Given the description of an element on the screen output the (x, y) to click on. 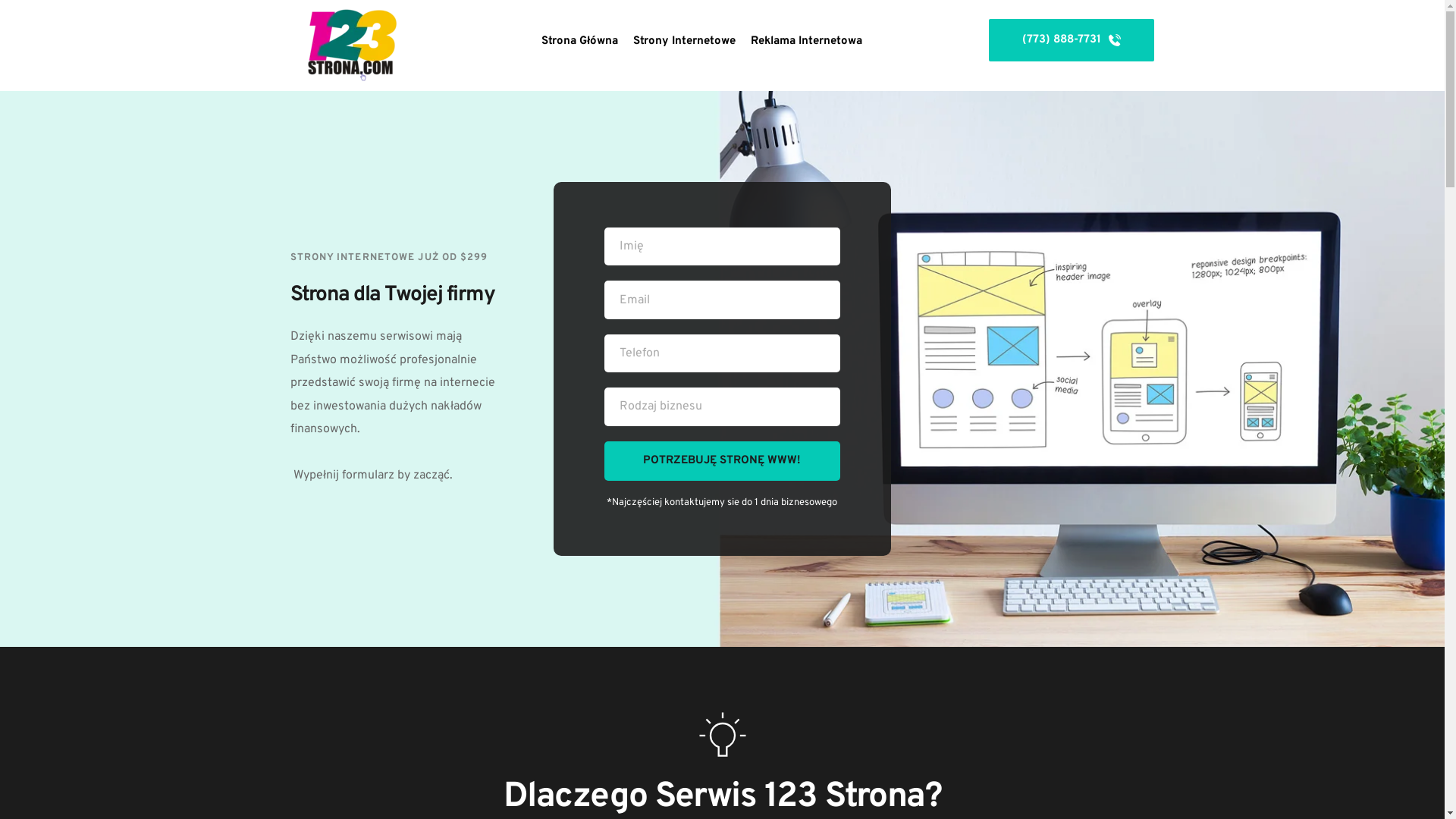
Strony Internetowe Element type: text (684, 41)
(773) 888-7731 Element type: text (1071, 39)
Reklama Internetowa Element type: text (806, 41)
